Given the description of an element on the screen output the (x, y) to click on. 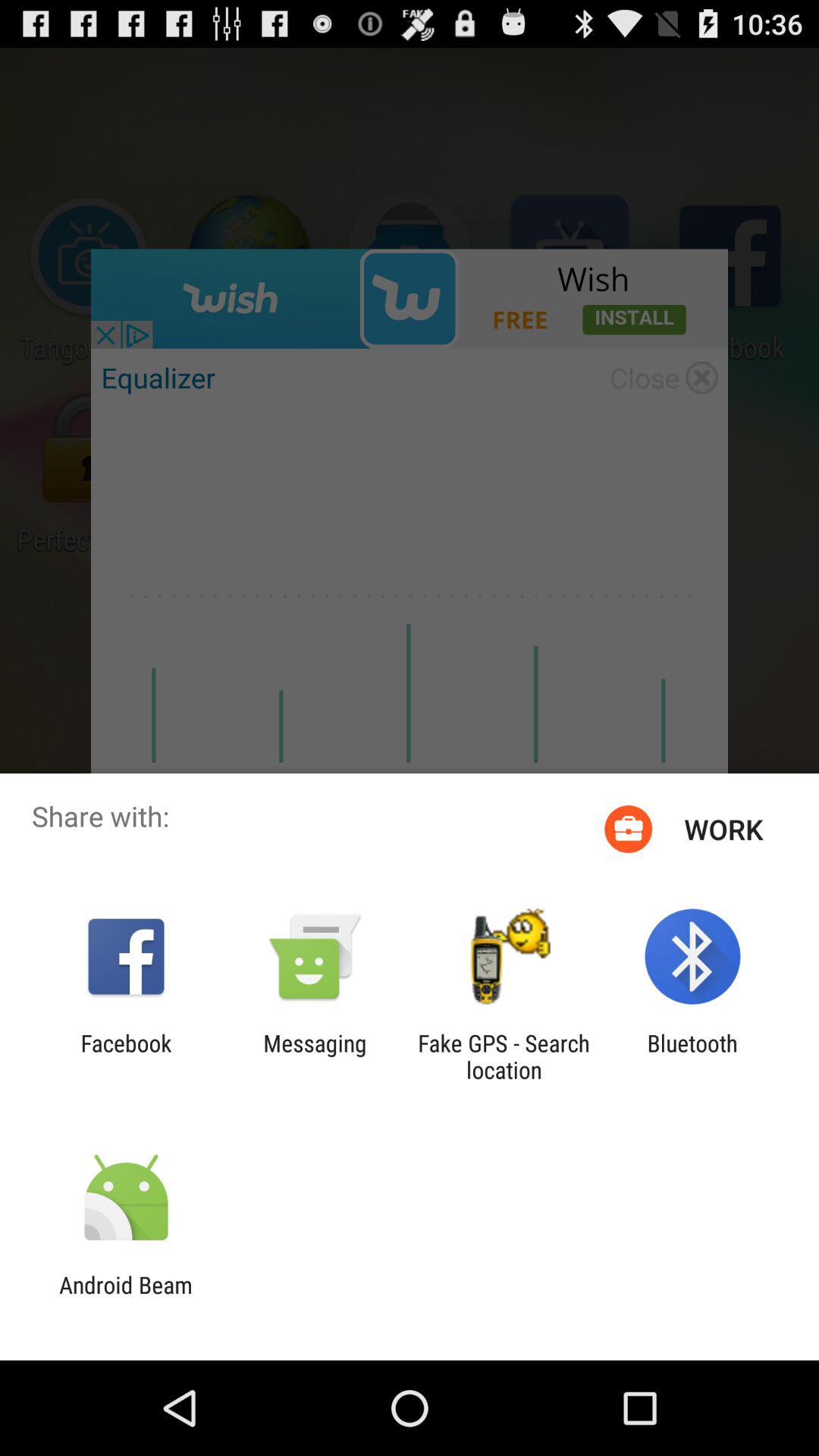
select item to the left of the fake gps search (314, 1056)
